Given the description of an element on the screen output the (x, y) to click on. 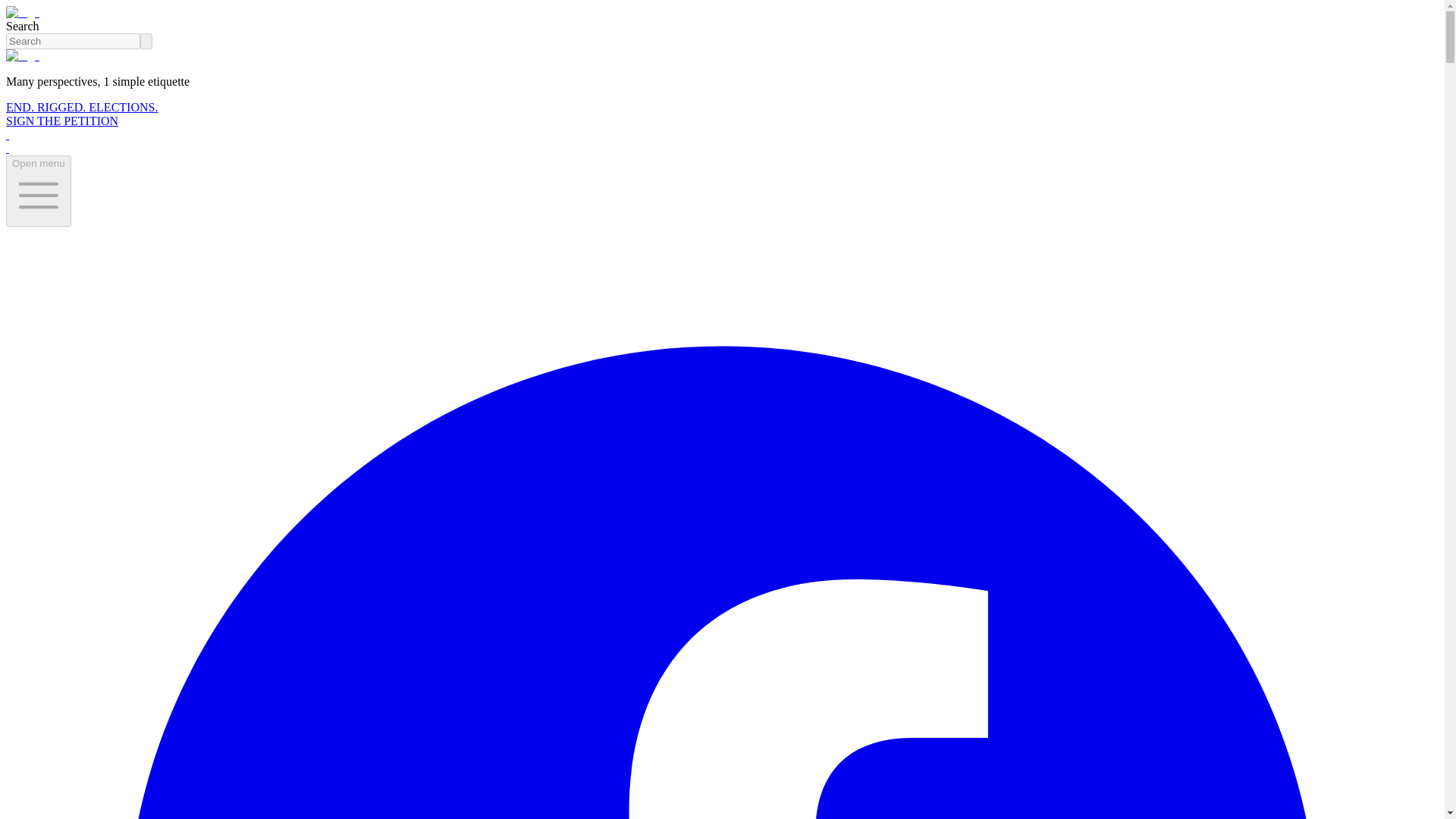
Open menu (38, 190)
